Given the description of an element on the screen output the (x, y) to click on. 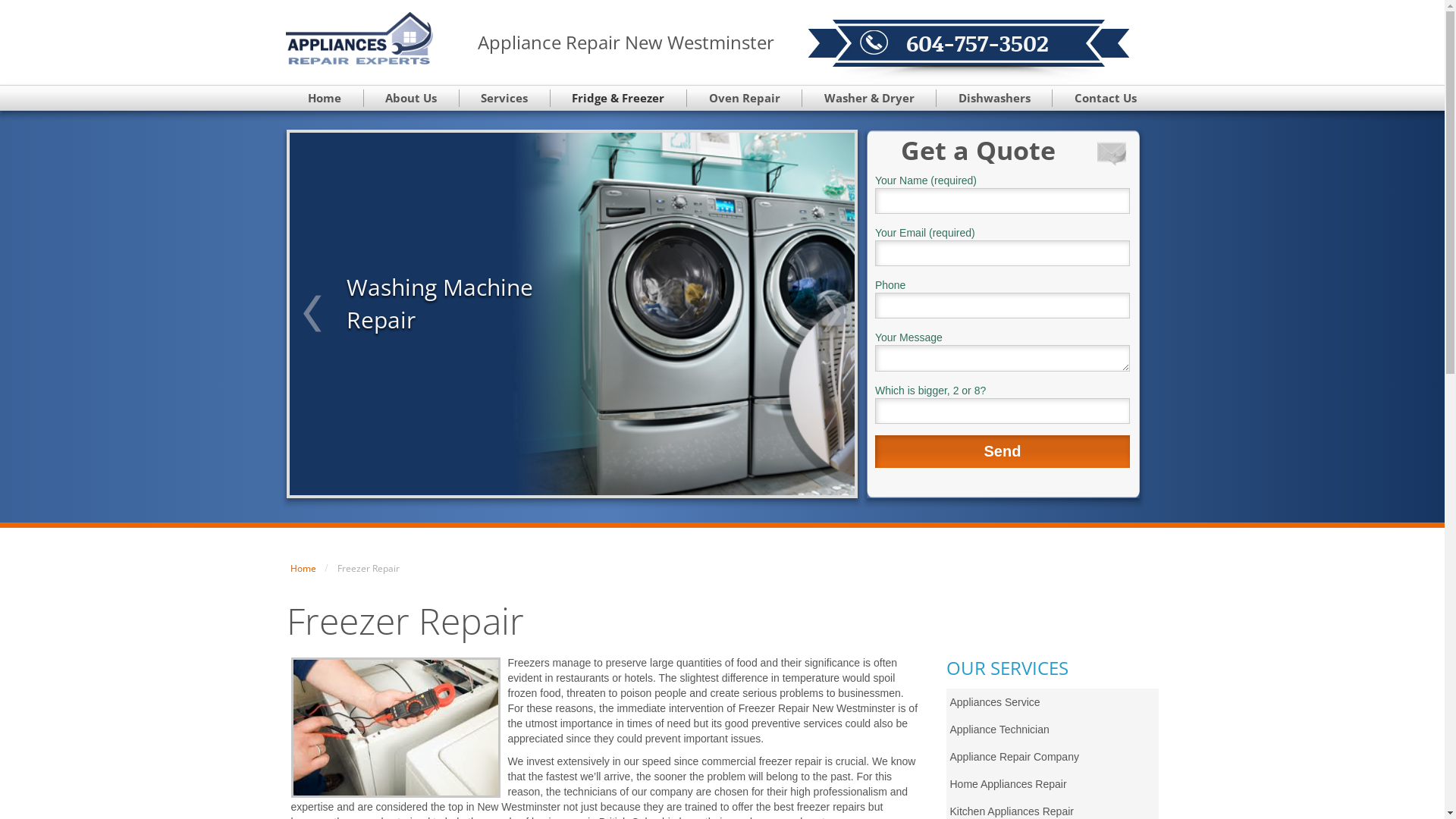
Appliance Repair Company Element type: text (1052, 756)
Home Element type: text (302, 567)
Services Element type: text (504, 97)
About Us Element type: text (411, 97)
Oven Repair Element type: text (744, 97)
Home Appliances Repair Element type: text (1052, 783)
Home Element type: text (325, 97)
Send Element type: text (1002, 451)
Appliances Service Element type: text (1052, 701)
Appliance Technician Element type: text (1052, 729)
Washer & Dryer Element type: text (869, 97)
Dishwashers Element type: text (994, 97)
Fridge & Freezer Element type: text (618, 97)
Contact Us Element type: text (1104, 97)
